Given the description of an element on the screen output the (x, y) to click on. 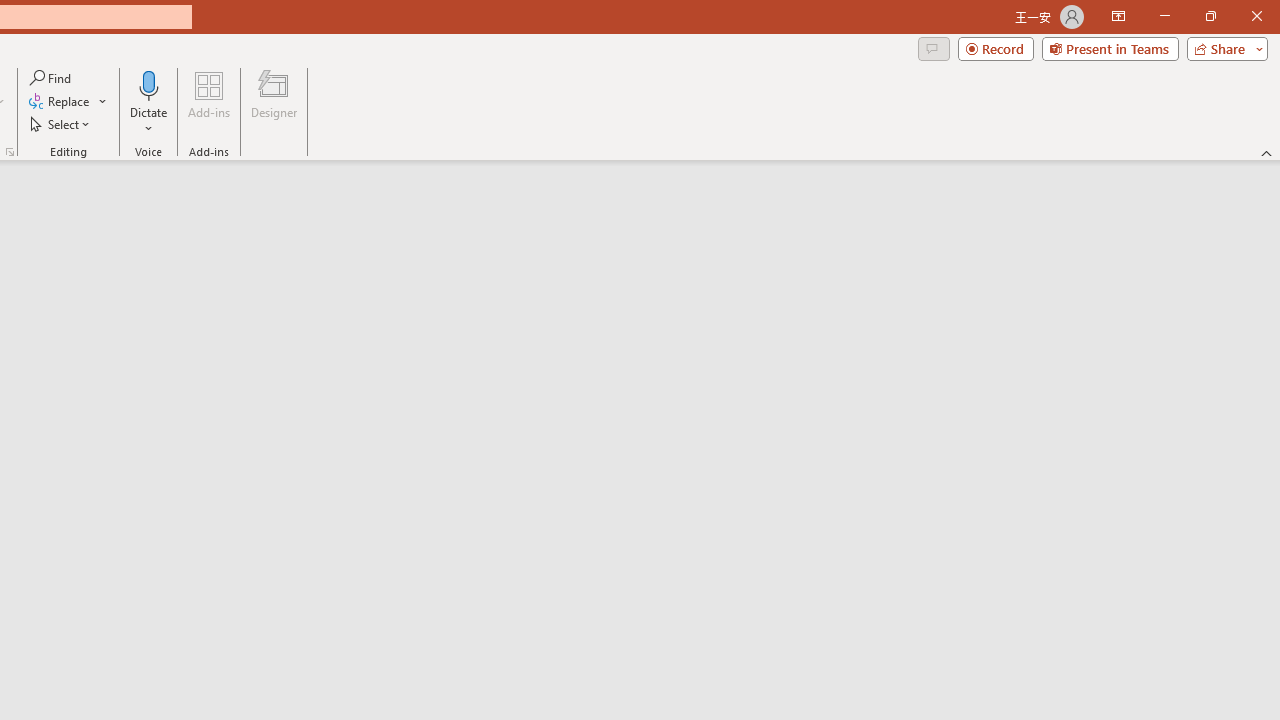
Replace... (60, 101)
Replace... (68, 101)
Format Object... (9, 151)
Find... (51, 78)
Dictate (149, 102)
Dictate (149, 84)
Designer (274, 102)
Restore Down (1210, 16)
